Given the description of an element on the screen output the (x, y) to click on. 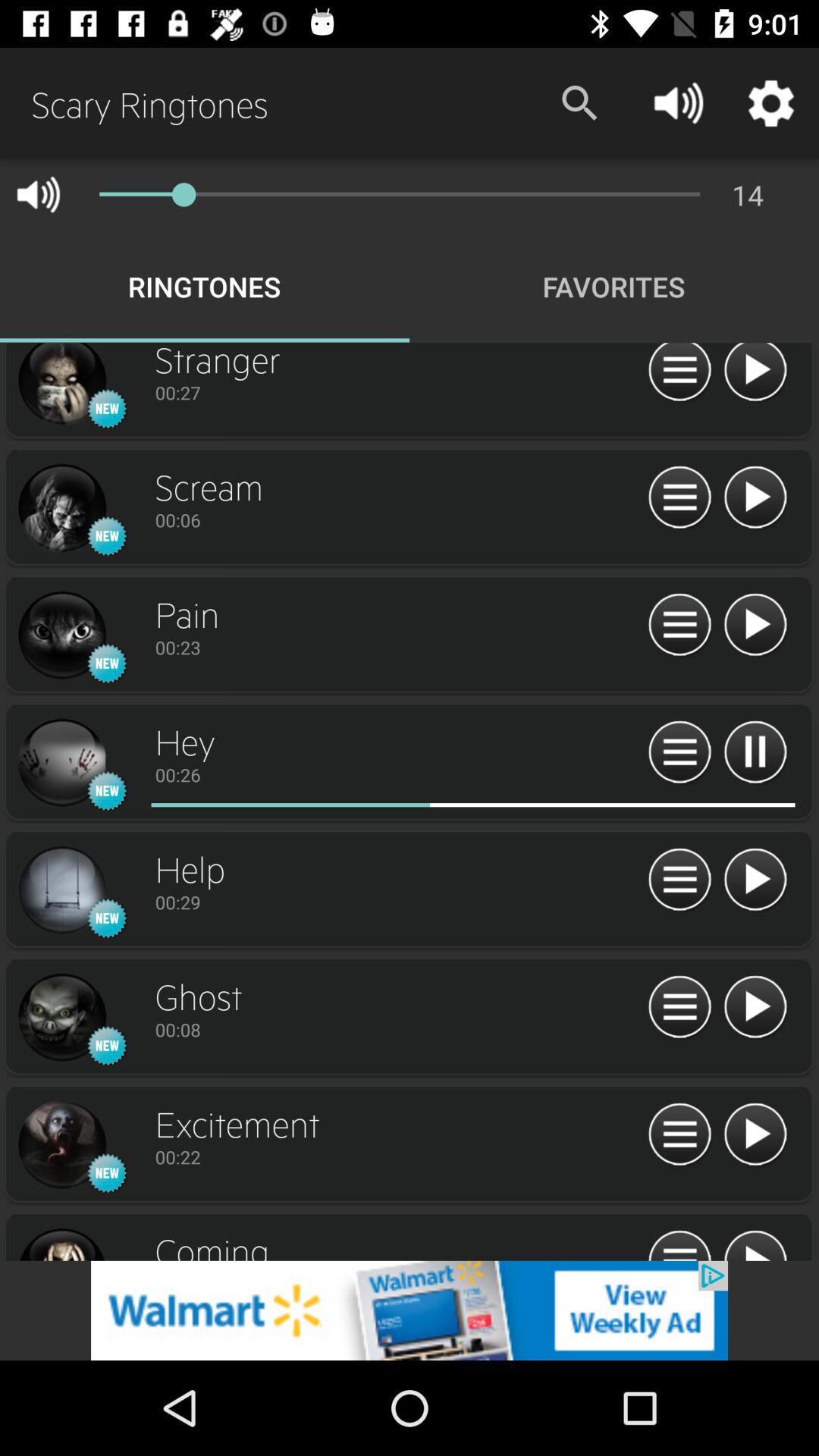
play song (755, 498)
